Given the description of an element on the screen output the (x, y) to click on. 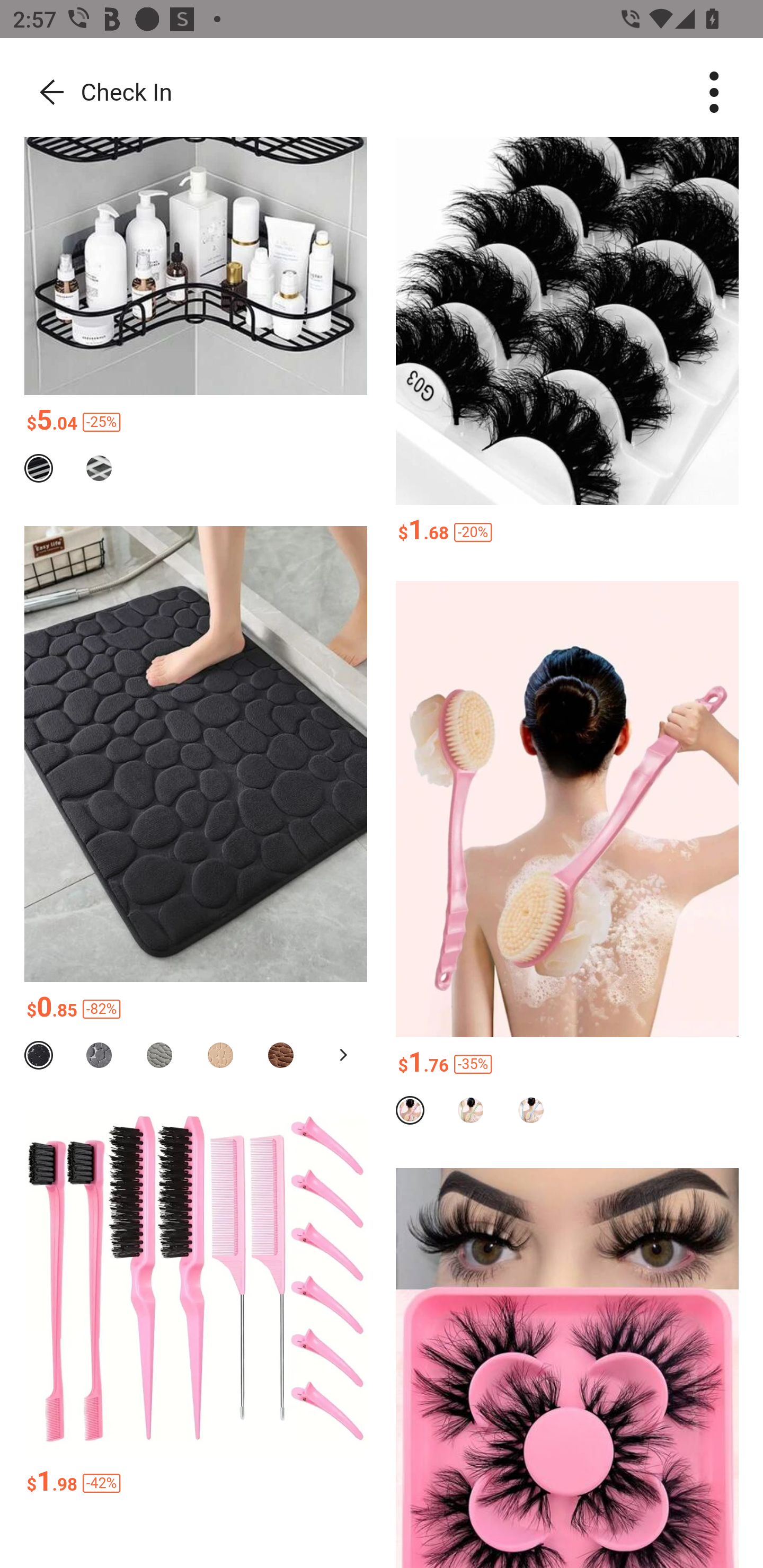
Check In (98, 92)
$5.04-25% (195, 422)
$1.68-20% (566, 532)
$0.85-82% (195, 1009)
$1.76-35% (566, 1064)
$1.98-42% (195, 1483)
